Given the description of an element on the screen output the (x, y) to click on. 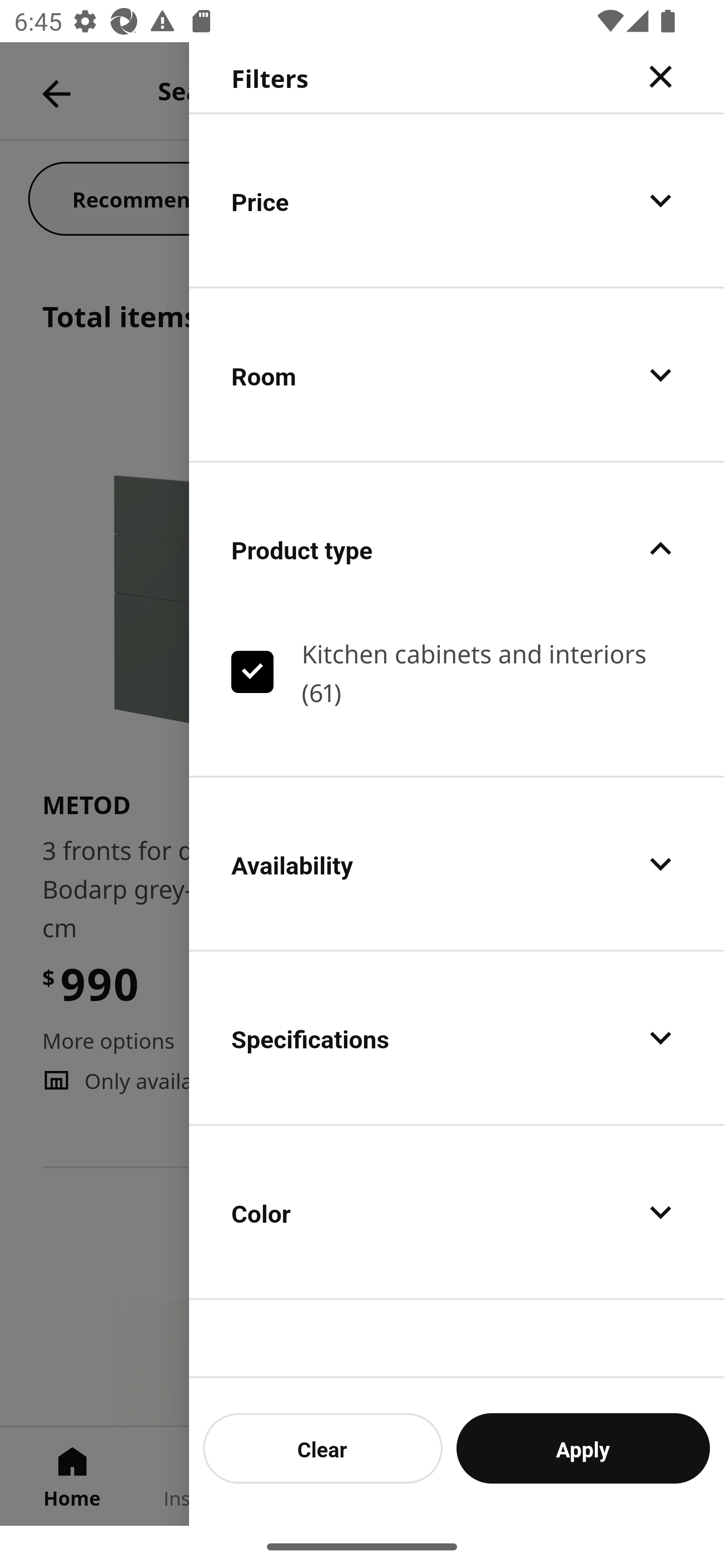
Price (456, 200)
Room (456, 374)
Product type (456, 548)
Kitchen cabinets and interiors (61) (456, 671)
Availability (456, 863)
Specifications (456, 1037)
Color (456, 1211)
Clear (322, 1447)
Apply (583, 1447)
